Given the description of an element on the screen output the (x, y) to click on. 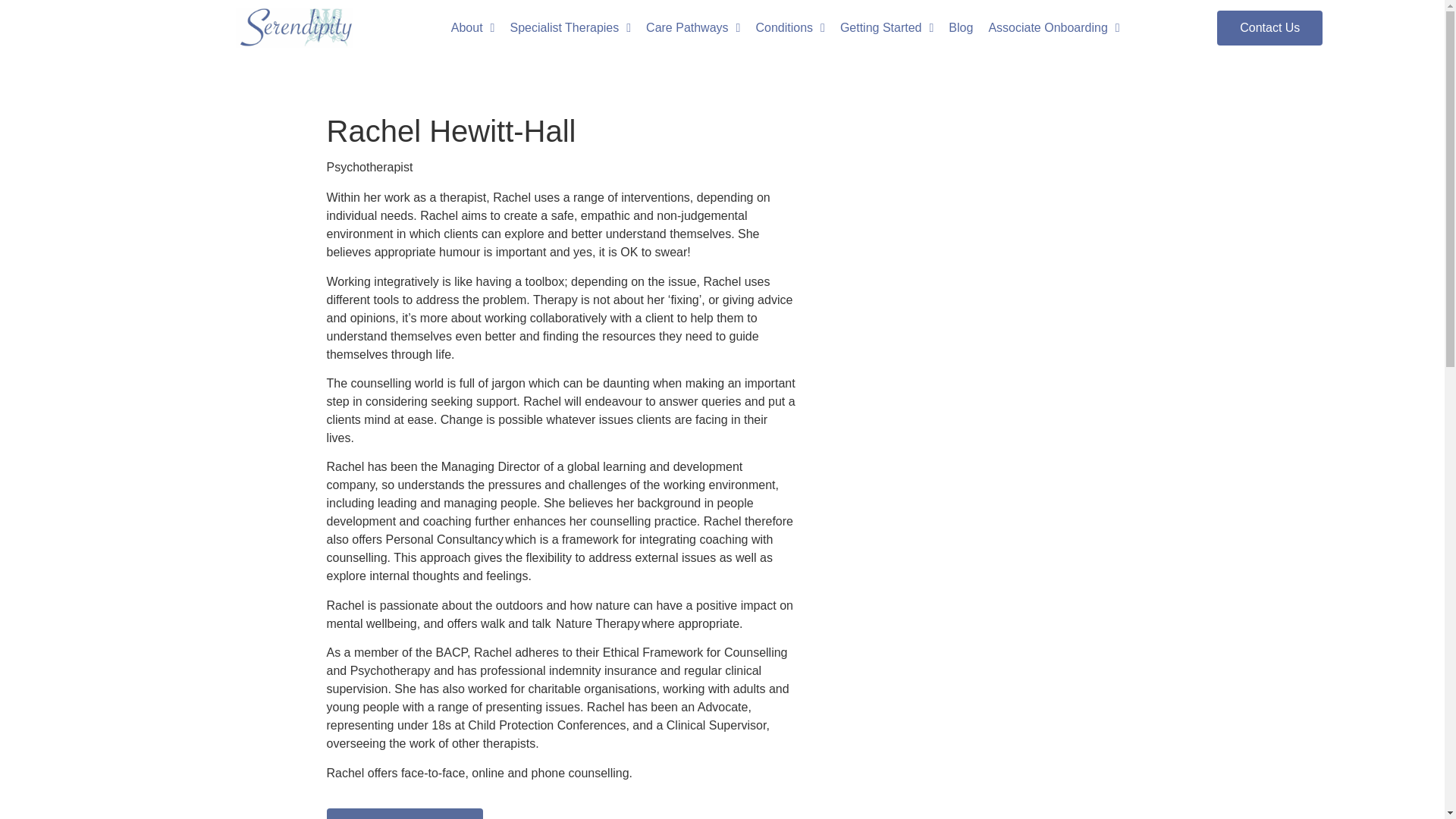
About (473, 27)
